Given the description of an element on the screen output the (x, y) to click on. 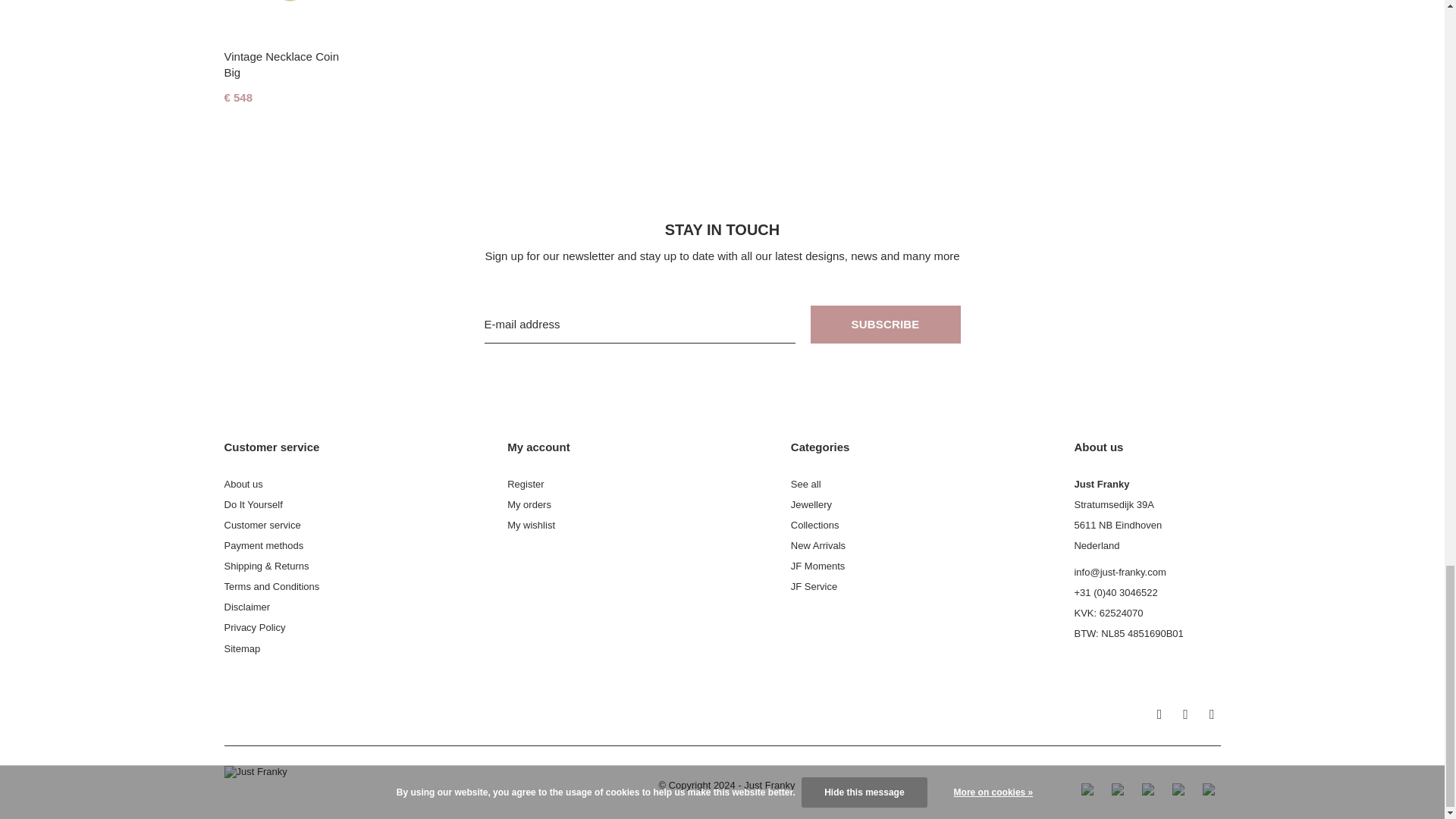
Register (524, 483)
My wishlist (530, 524)
My orders (528, 504)
